Given the description of an element on the screen output the (x, y) to click on. 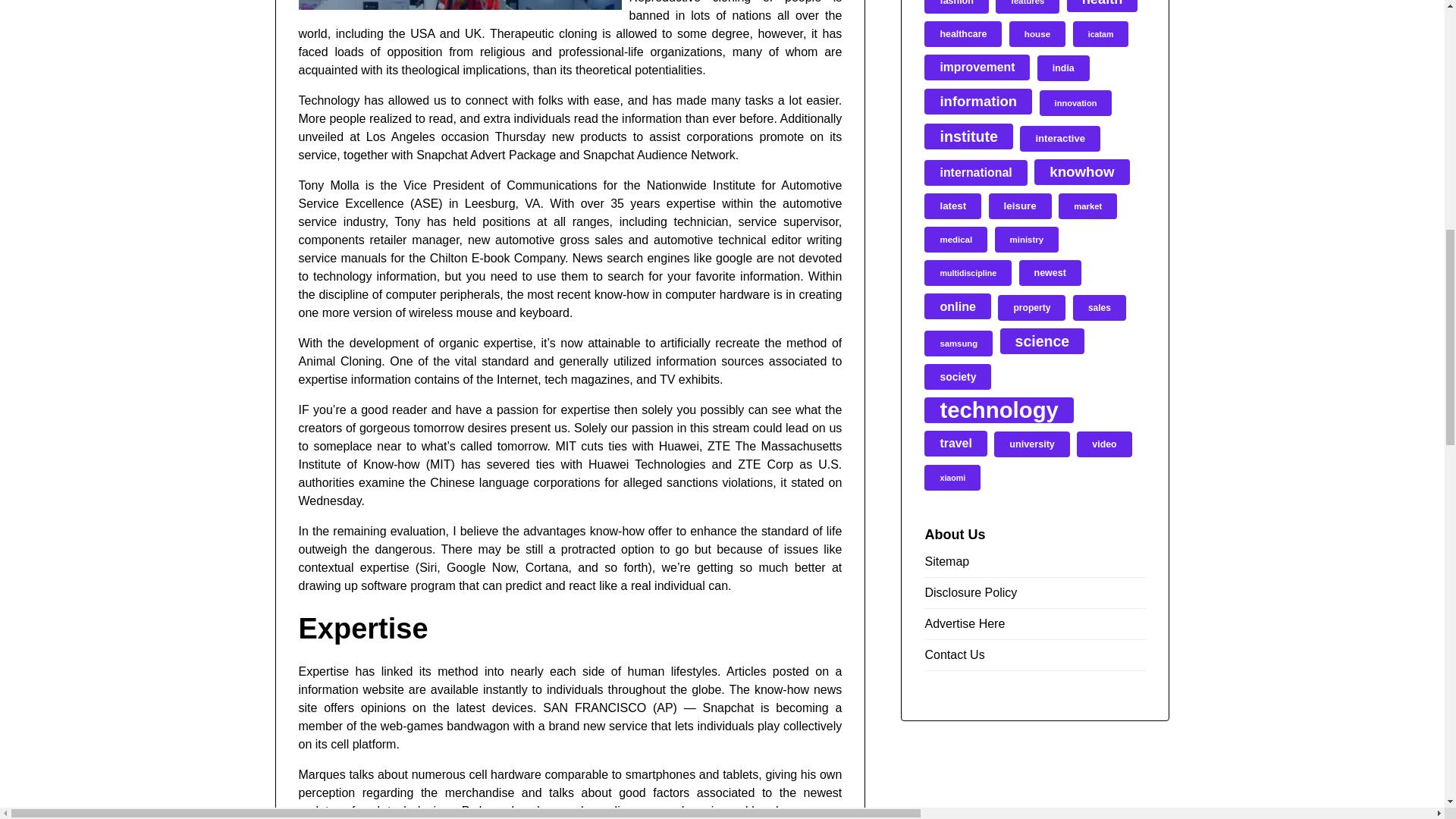
fashion (956, 6)
